Given the description of an element on the screen output the (x, y) to click on. 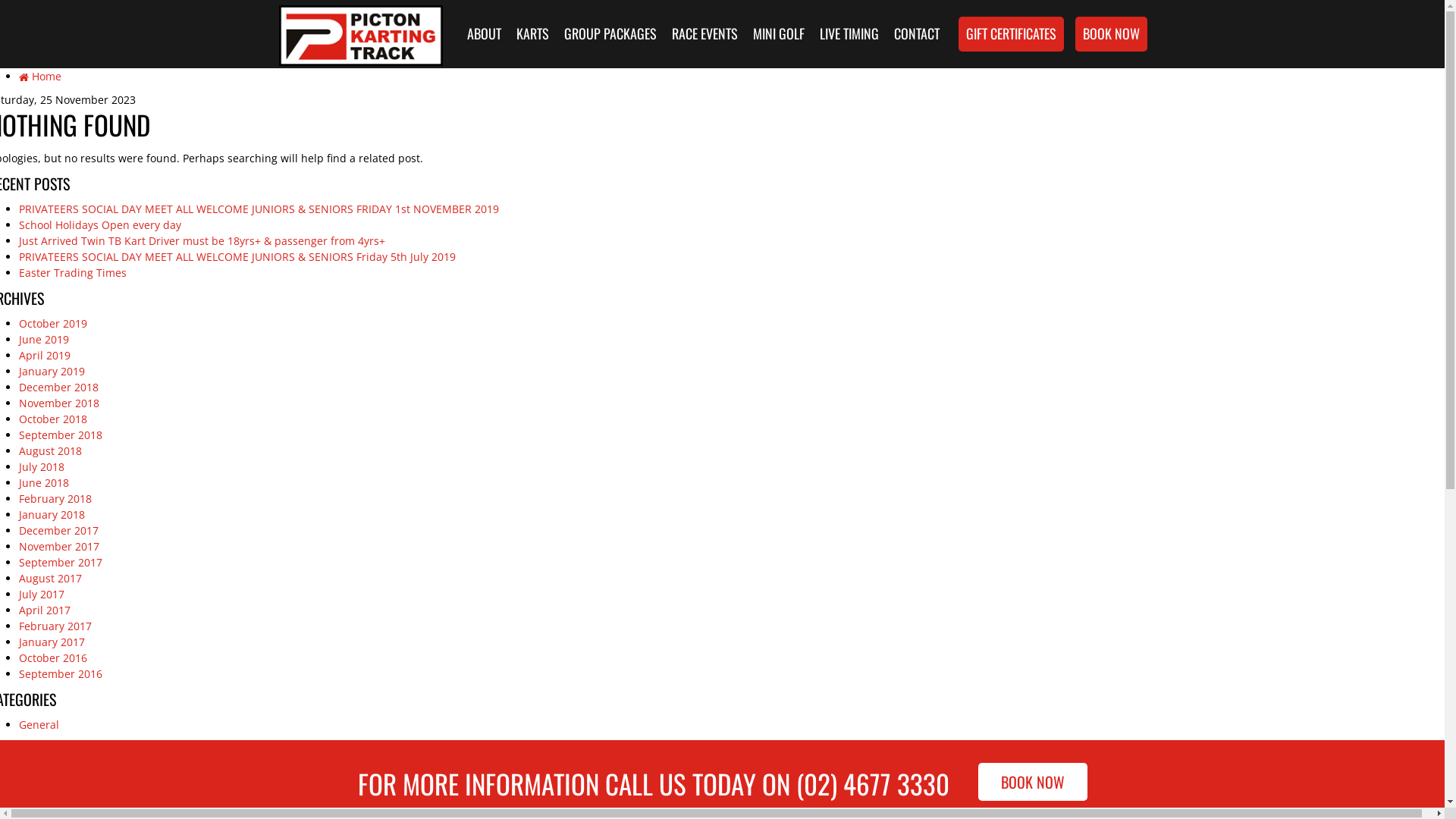
September 2018 Element type: text (60, 434)
November 2017 Element type: text (58, 545)
October 2018 Element type: text (52, 418)
August 2017 Element type: text (49, 577)
February 2017 Element type: text (54, 625)
November 2018 Element type: text (58, 402)
RACE EVENTS Element type: text (704, 32)
April 2017 Element type: text (44, 609)
January 2019 Element type: text (51, 371)
February 2018 Element type: text (54, 498)
(02) 4677 3330 Element type: text (872, 782)
October 2016 Element type: text (52, 657)
ABOUT Element type: text (484, 32)
KARTS Element type: text (531, 32)
GROUP PACKAGES Element type: text (610, 32)
BOOK NOW Element type: text (1110, 32)
December 2017 Element type: text (58, 530)
September 2017 Element type: text (60, 562)
BOOK NOW Element type: text (1032, 781)
CONTACT Element type: text (915, 32)
September 2016 Element type: text (60, 672)
Easter Trading Times Element type: text (72, 272)
School Holidays Open every day Element type: text (99, 223)
Picton Karting Element type: hover (361, 31)
January 2017 Element type: text (51, 640)
April 2019 Element type: text (44, 354)
MINI GOLF Element type: text (777, 32)
June 2018 Element type: text (43, 481)
October 2019 Element type: text (52, 322)
Home Element type: text (39, 76)
GIFT CERTIFICATES Element type: text (1011, 32)
January 2018 Element type: text (51, 513)
July 2017 Element type: text (41, 593)
December 2018 Element type: text (58, 386)
June 2019 Element type: text (43, 339)
July 2018 Element type: text (41, 466)
August 2018 Element type: text (49, 449)
LIVE TIMING Element type: text (848, 32)
General Element type: text (38, 724)
